Given the description of an element on the screen output the (x, y) to click on. 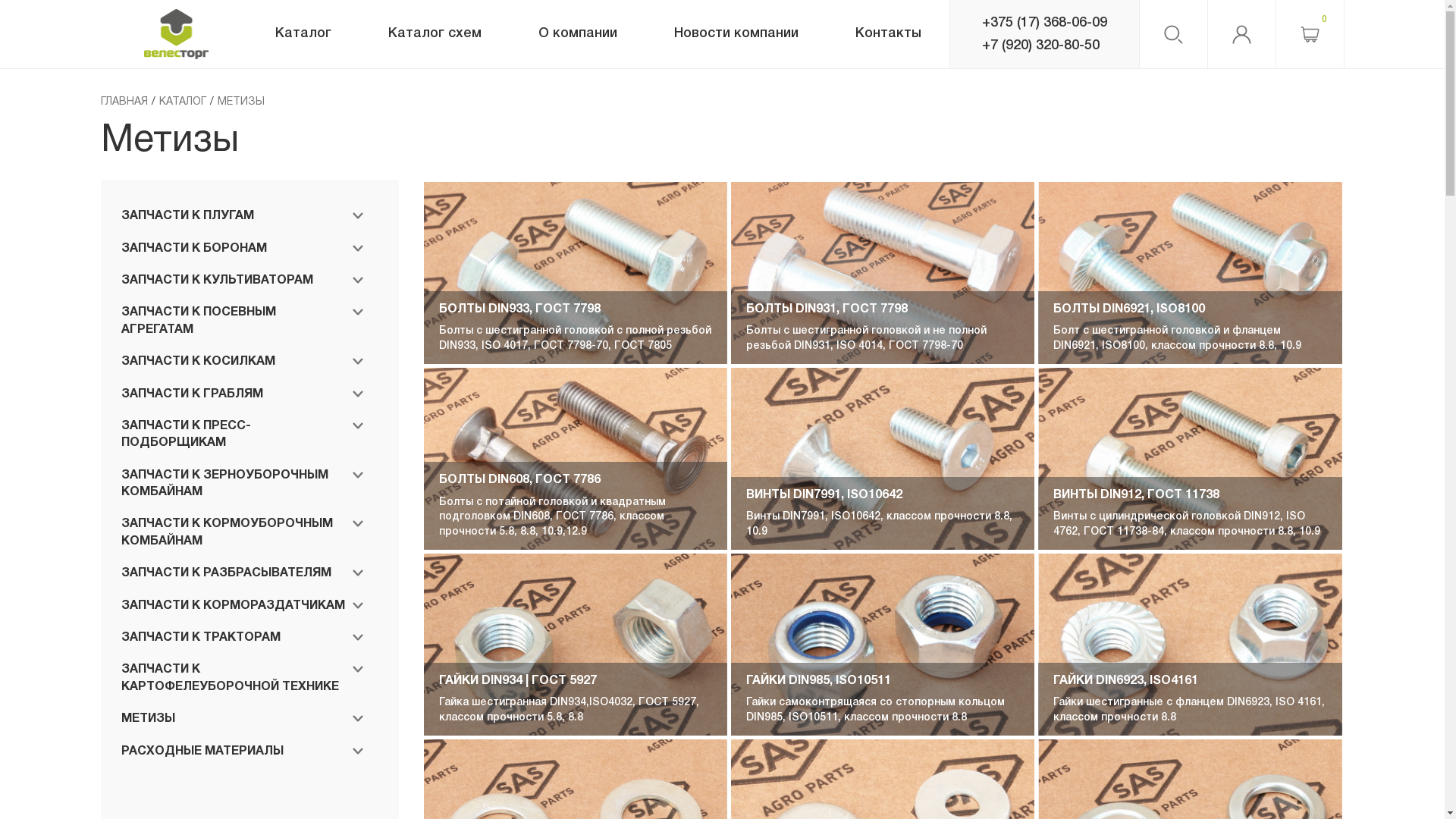
+7 (920) 320-80-50 Element type: text (1043, 45)
+375 (17) 368-06-09 Element type: text (1043, 22)
